Given the description of an element on the screen output the (x, y) to click on. 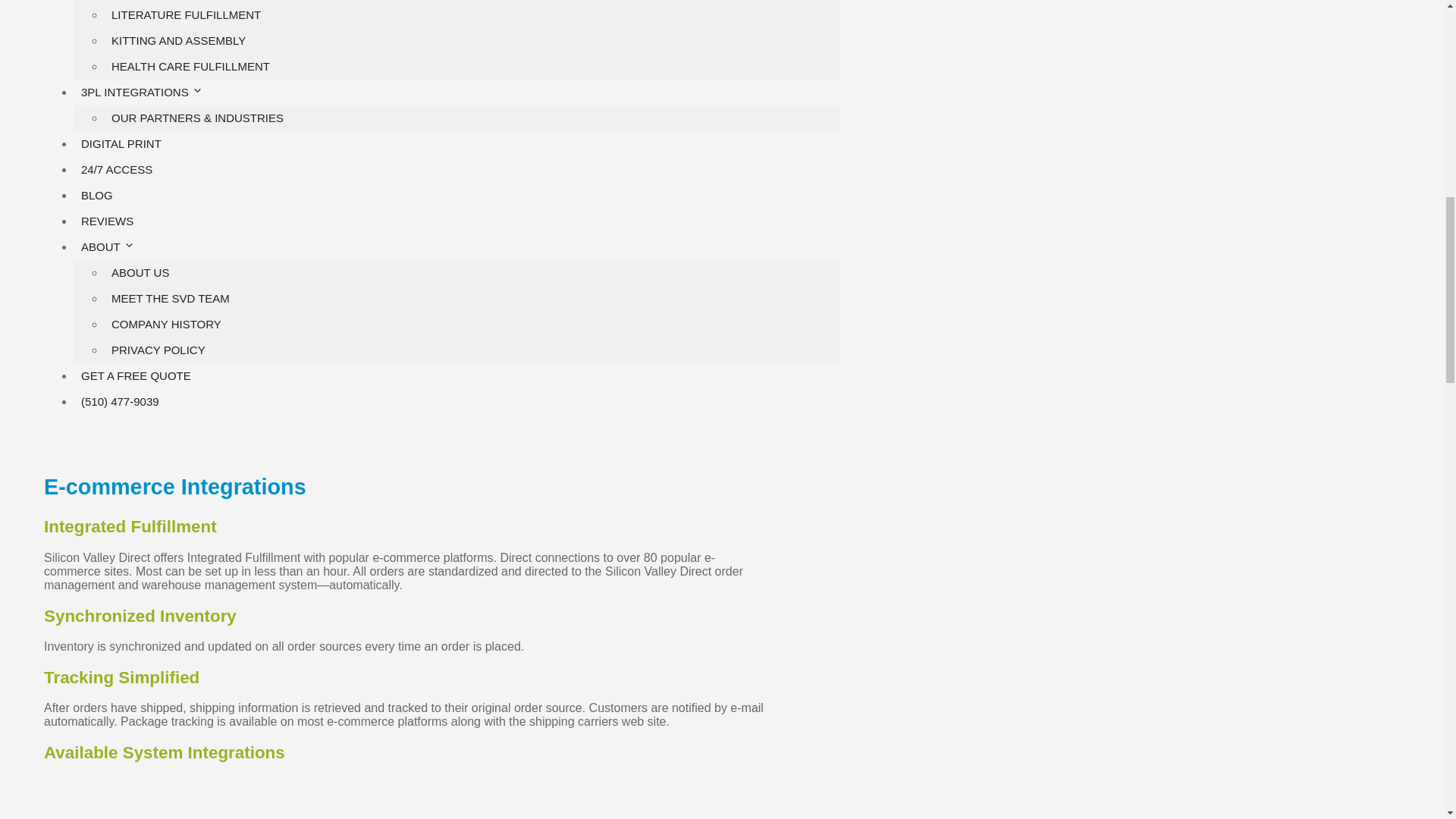
3PL INTEGRATIONS (149, 91)
ABOUT US (140, 272)
REVIEWS (106, 220)
ECOMMERCE ORDER FULFILLMENT (210, 1)
ABOUT (115, 246)
LITERATURE FULFILLMENT (185, 14)
COMPANY HISTORY (166, 324)
BLOG (96, 195)
PRIVACY POLICY (158, 349)
HEALTH CARE FULFILLMENT (190, 66)
KITTING AND ASSEMBLY (177, 40)
DIGITAL PRINT (121, 143)
MEET THE SVD TEAM (169, 298)
